Given the description of an element on the screen output the (x, y) to click on. 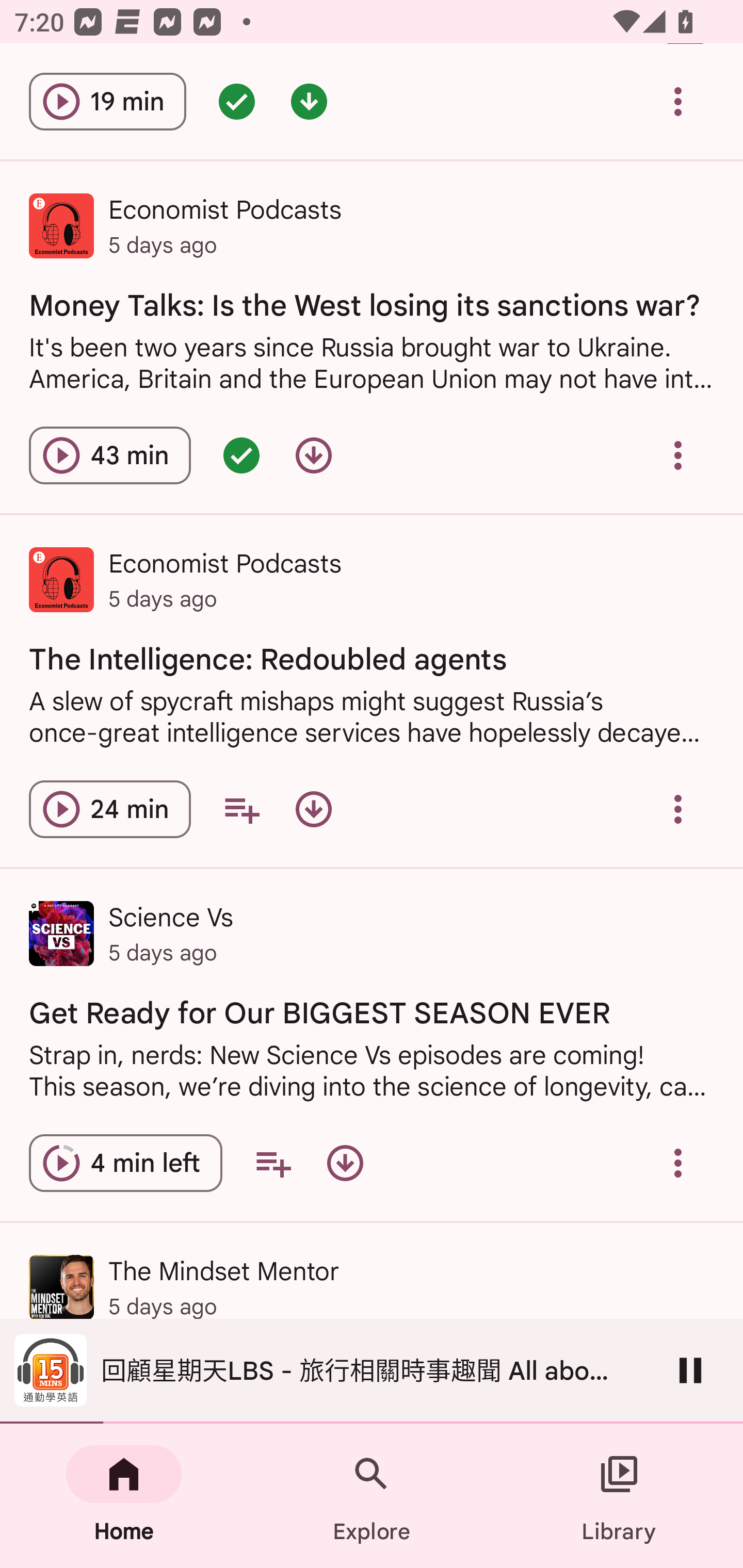
Episode queued - double tap for options (236, 101)
Episode downloaded - double tap for options (308, 101)
Overflow menu (677, 101)
Episode queued - double tap for options (241, 455)
Download episode (313, 455)
Overflow menu (677, 455)
Add to your queue (241, 808)
Download episode (313, 808)
Overflow menu (677, 808)
Add to your queue (273, 1162)
Download episode (345, 1162)
Overflow menu (677, 1162)
Pause (690, 1370)
Explore (371, 1495)
Library (619, 1495)
